Given the description of an element on the screen output the (x, y) to click on. 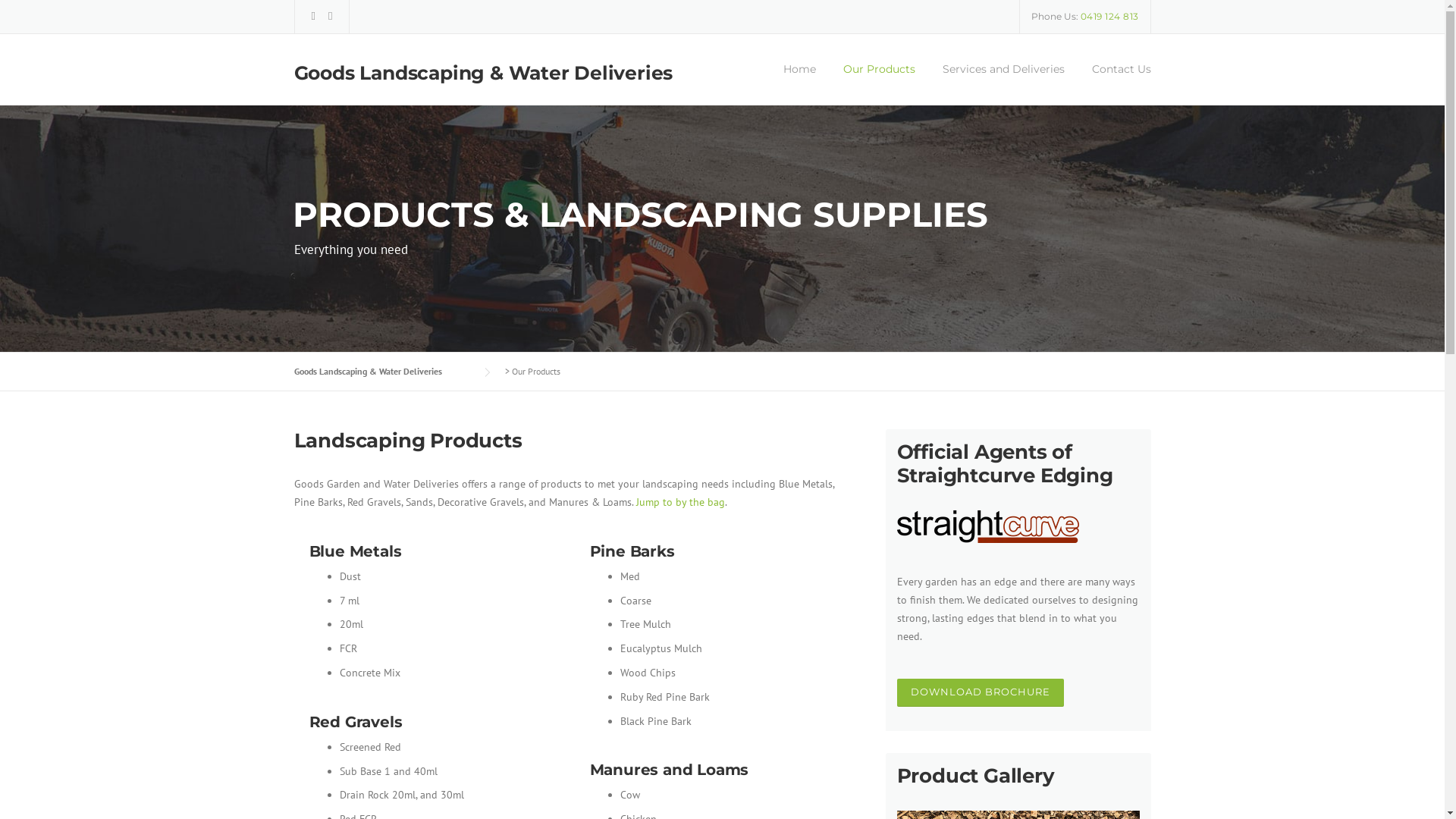
Services and Deliveries Element type: text (1002, 82)
Email Element type: hover (330, 15)
0419 124 813 Element type: text (1108, 15)
Facebook Element type: hover (312, 15)
Jump to by the bag Element type: text (679, 501)
Goods Landscaping & Water Deliveries Element type: text (483, 72)
Our Products Element type: text (878, 82)
Goods Landscaping & Water Deliveries Element type: text (383, 370)
DOWNLOAD BROCHURE Element type: text (979, 692)
Home Element type: text (798, 82)
Contact Us Element type: text (1114, 82)
